Given the description of an element on the screen output the (x, y) to click on. 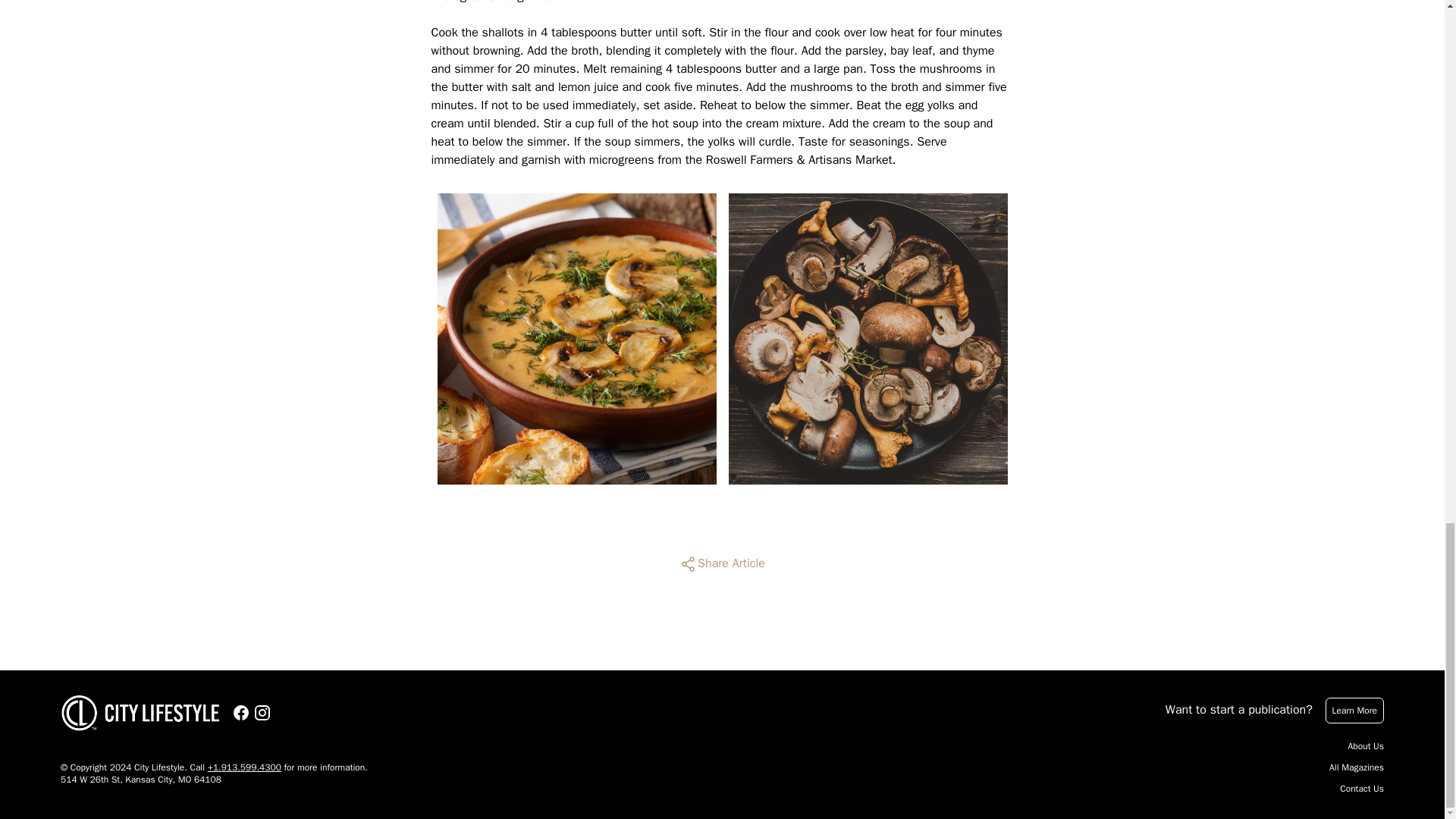
About Us (1366, 746)
Share Article (722, 563)
Contact Us (1361, 788)
Learn More (1354, 710)
All Magazines (1356, 767)
